Given the description of an element on the screen output the (x, y) to click on. 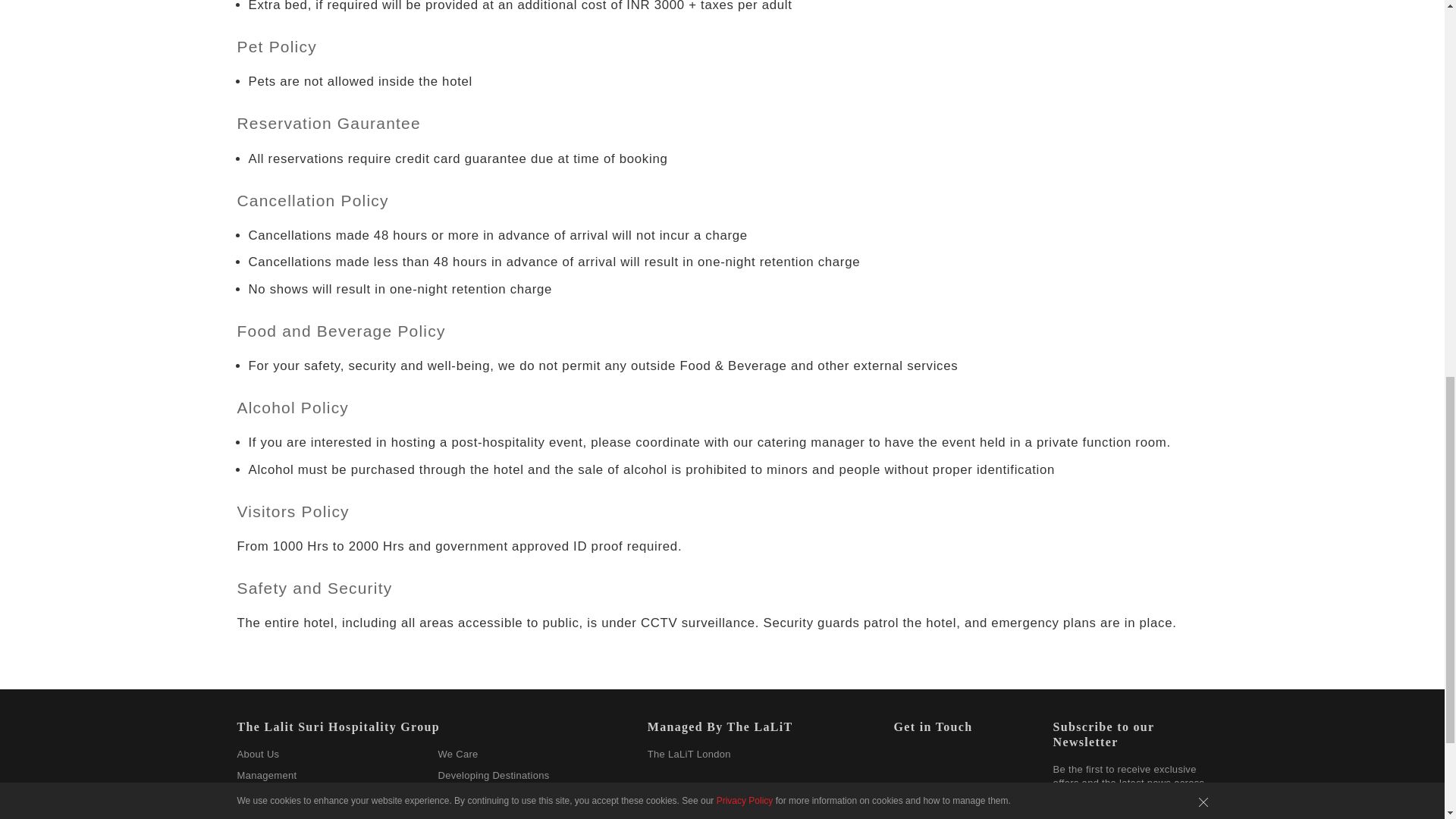
Awards (252, 815)
About Us (257, 754)
Developing Destinations (493, 775)
We Care (457, 754)
Careers (254, 796)
Management (266, 775)
